Given the description of an element on the screen output the (x, y) to click on. 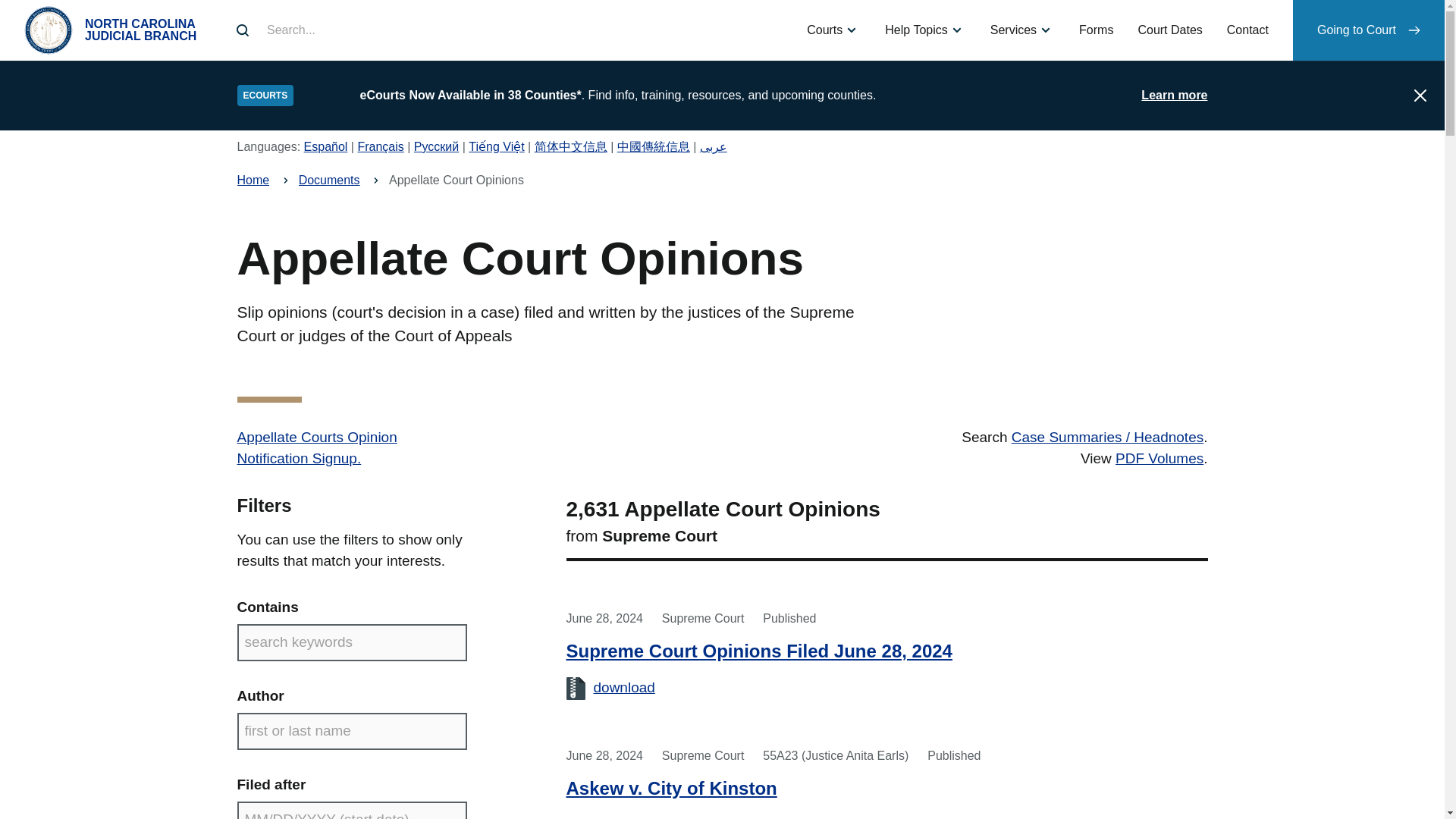
Courts (833, 30)
Currently viewing: Appellate Court Opinions (456, 179)
Supreme Court Opinions Filed June 28, 2024 (622, 687)
Help Topics (924, 30)
Go back to: Home (252, 179)
Search... (242, 30)
NORTH CAROLINA JUDICIAL BRANCH (115, 30)
Search... (242, 30)
Home (115, 30)
Go back to: Documents (328, 179)
